Given the description of an element on the screen output the (x, y) to click on. 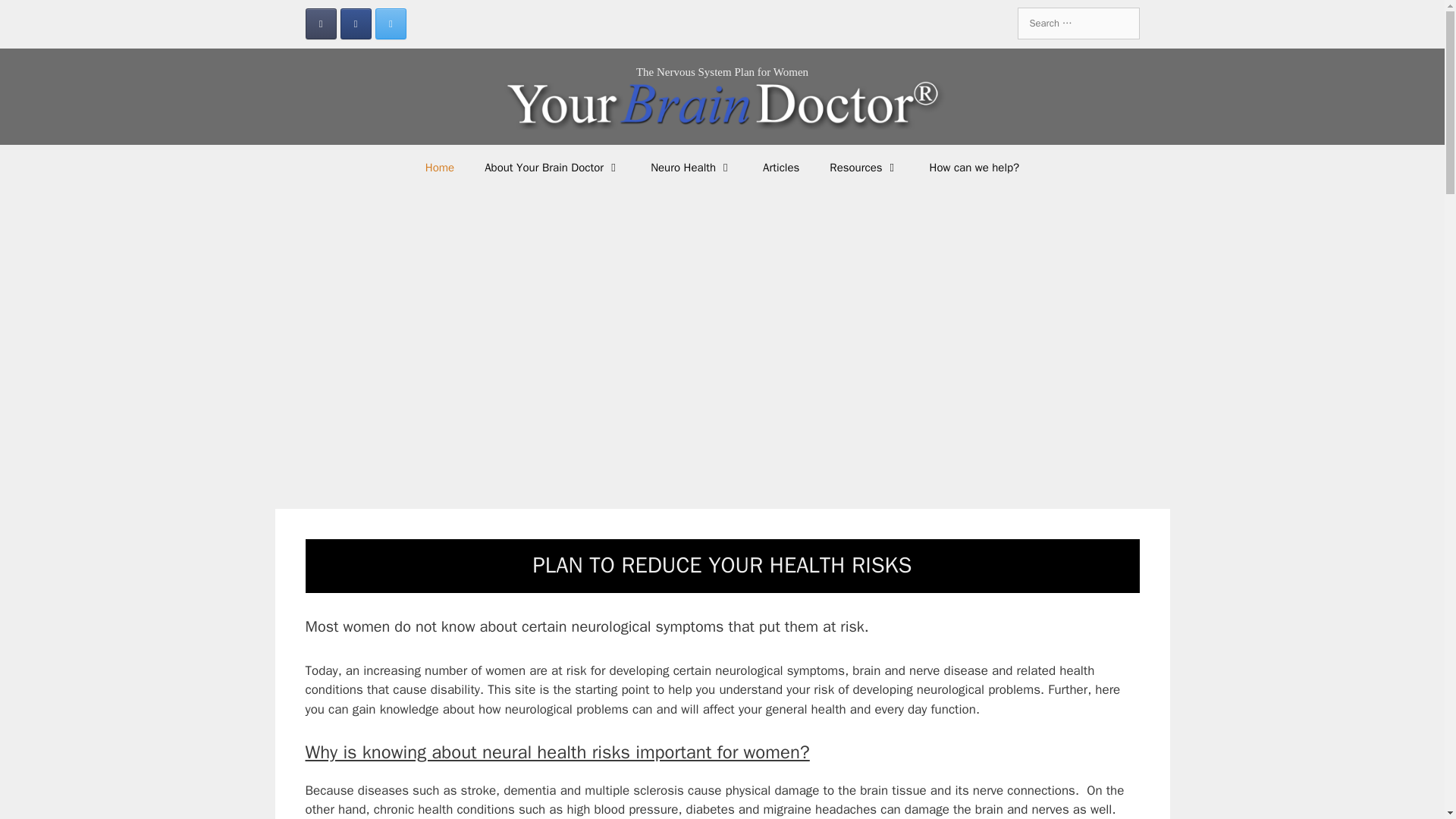
Your Brain Doctor on Envelope (320, 23)
Your Brain Doctor on X Twitter (390, 23)
Resources (863, 167)
About Your Brain Doctor (551, 167)
Search (30, 15)
How can we help? (974, 167)
Your Brain Doctor on Facebook (355, 23)
Home (439, 167)
Articles (780, 167)
Neuro Health (691, 167)
